Given the description of an element on the screen output the (x, y) to click on. 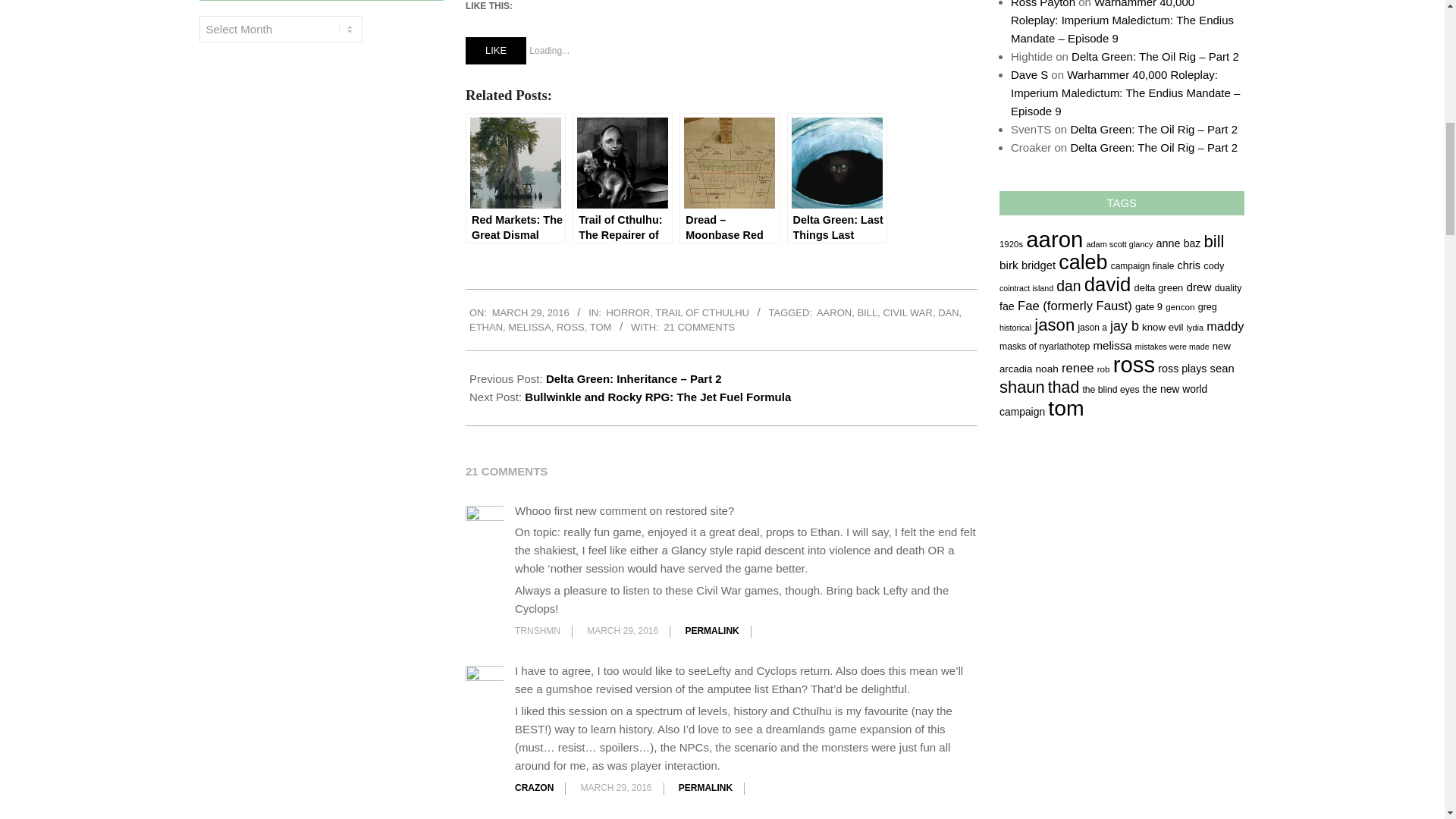
ROSS (570, 326)
DAN (947, 312)
Tuesday, March 29, 2016, 12:20 pm (530, 312)
AARON (833, 312)
BILL (867, 312)
TRAIL OF CTHULHU (702, 312)
Bullwinkle and Rocky RPG: The Jet Fuel Formula (657, 396)
Tuesday, March 29, 2016, 8:38 pm (616, 787)
Tuesday, March 29, 2016, 3:40 pm (622, 630)
MELISSA (529, 326)
